Given the description of an element on the screen output the (x, y) to click on. 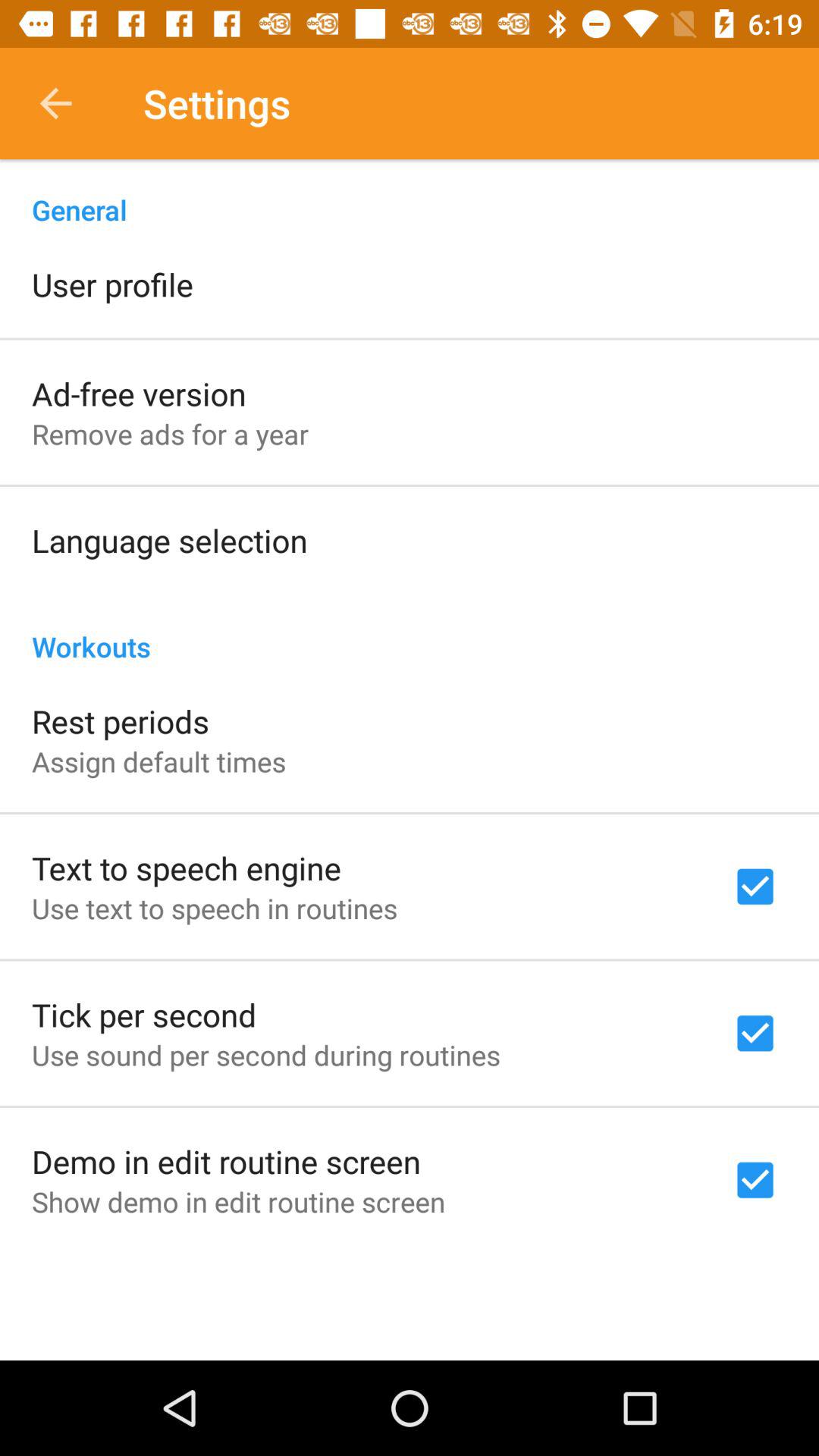
press the user profile (112, 283)
